Given the description of an element on the screen output the (x, y) to click on. 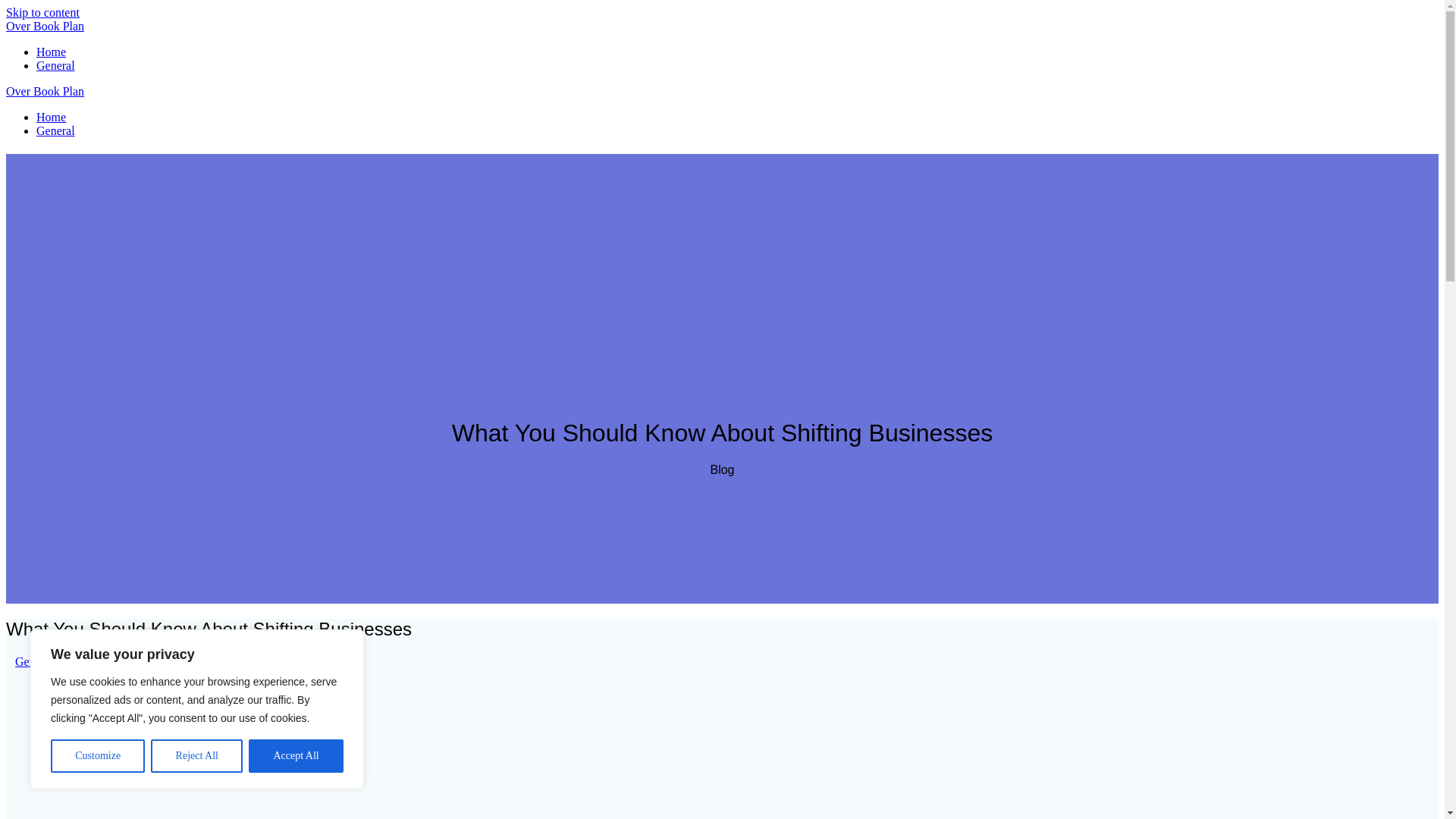
Customize (97, 756)
General (55, 65)
Reject All (197, 756)
Home (50, 51)
Over Book Plan (44, 91)
Accept All (295, 756)
Home (50, 116)
Over Book Plan (44, 25)
General (55, 130)
General (33, 661)
